Given the description of an element on the screen output the (x, y) to click on. 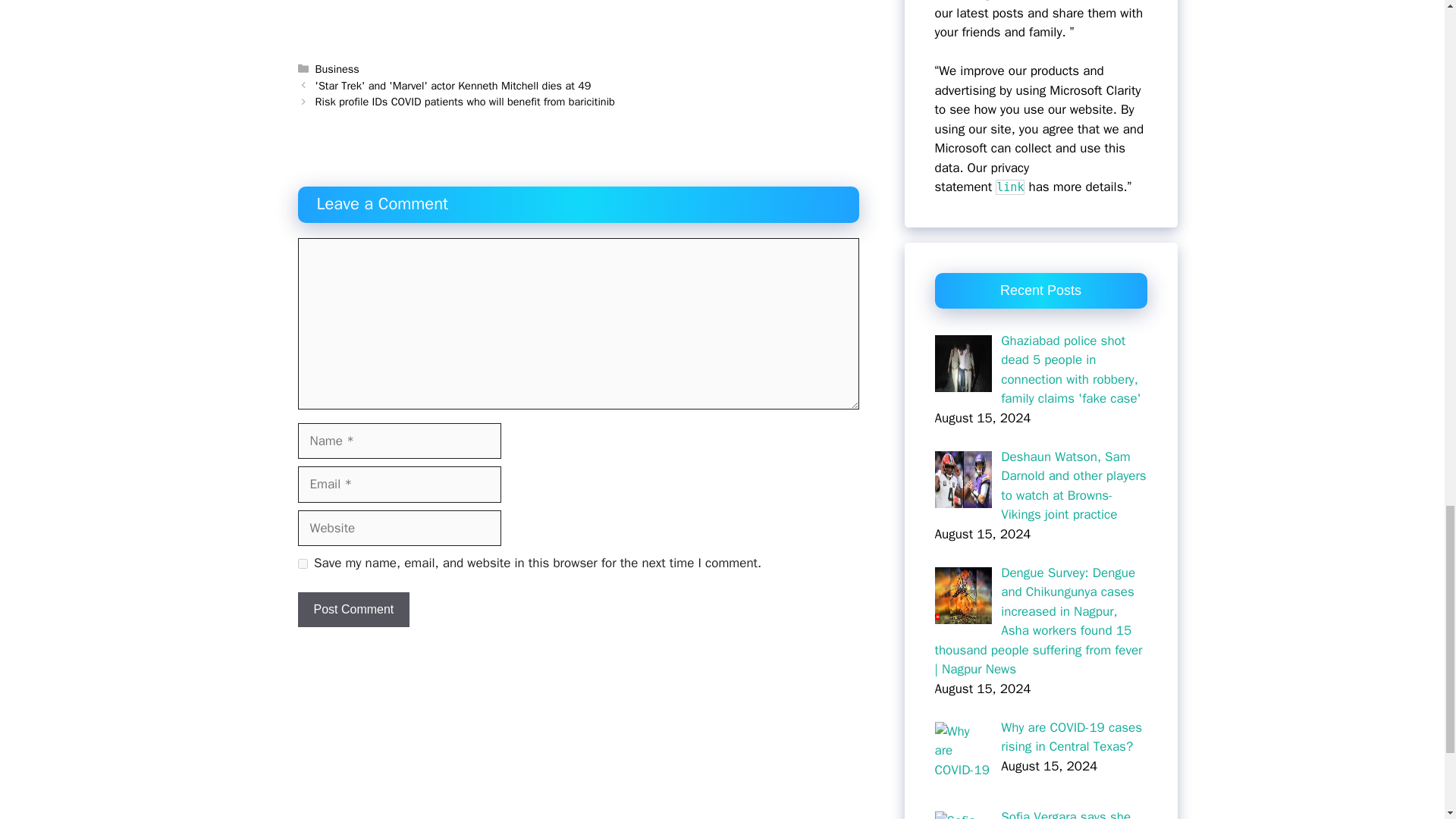
Why are COVID-19 cases rising in Central Texas? (1071, 736)
Business (337, 69)
yes (302, 563)
link (1009, 187)
Post Comment (353, 609)
Post Comment (353, 609)
